Given the description of an element on the screen output the (x, y) to click on. 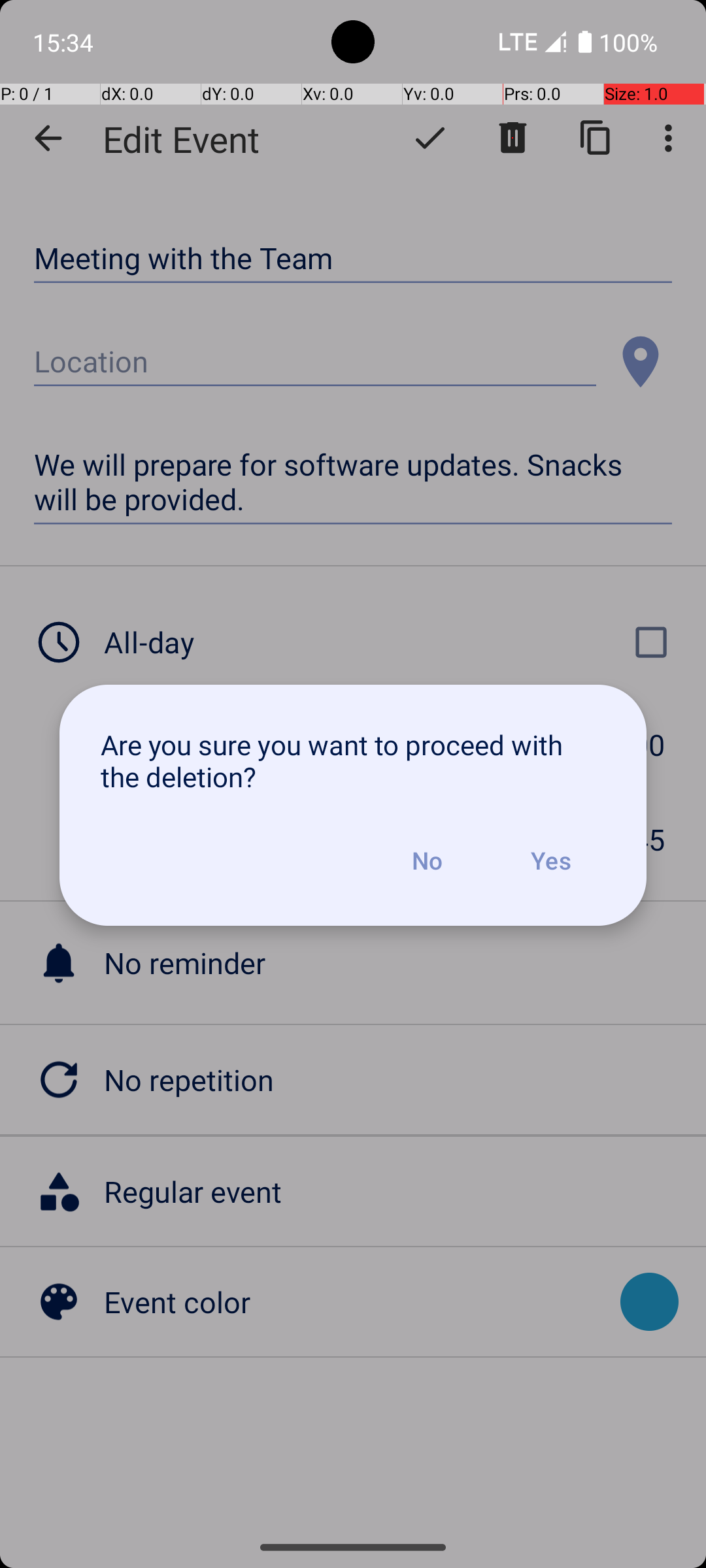
Are you sure you want to proceed with the deletion? Element type: android.widget.TextView (352, 760)
No Element type: android.widget.Button (426, 860)
Yes Element type: android.widget.Button (550, 860)
